Given the description of an element on the screen output the (x, y) to click on. 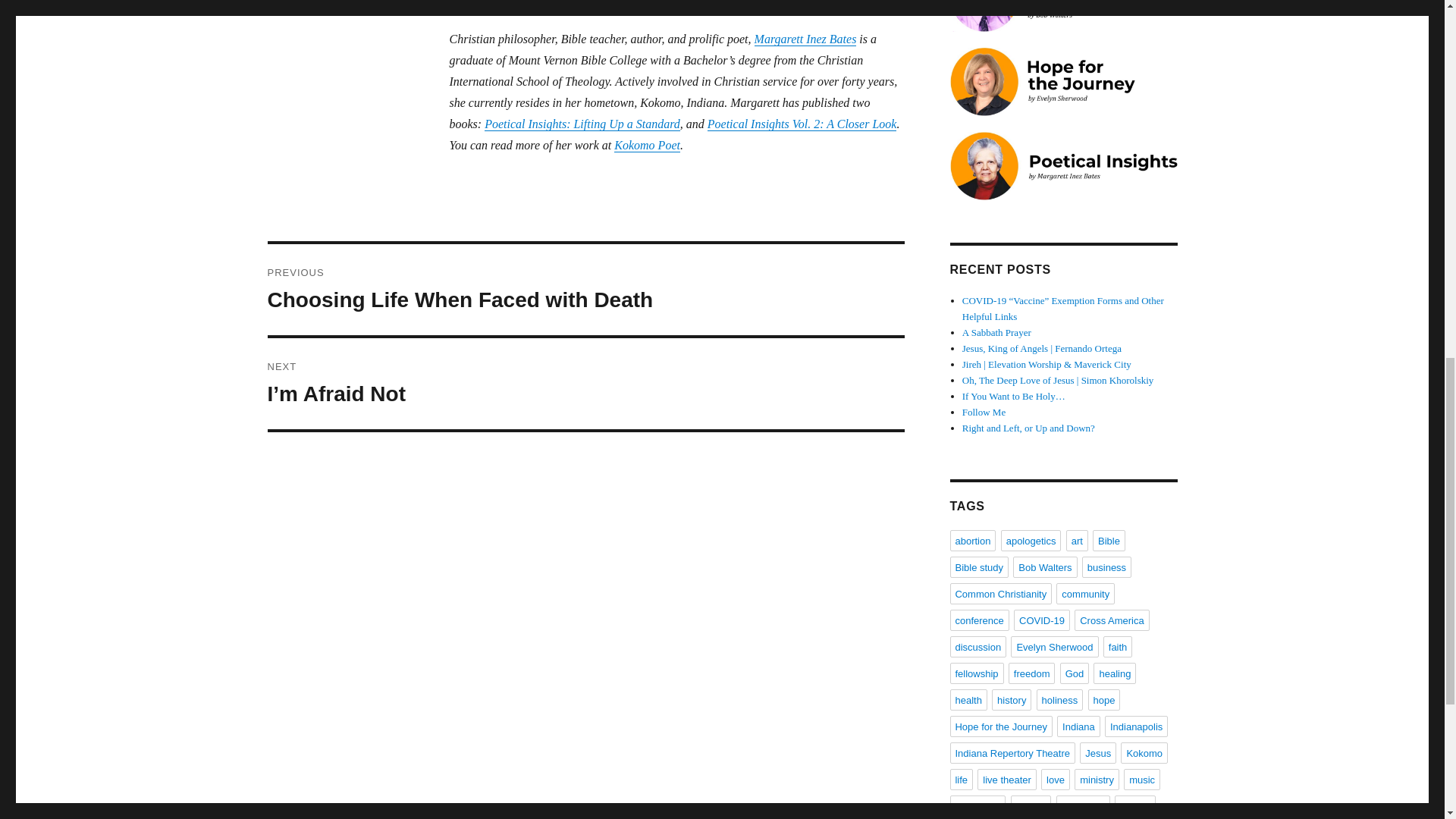
apologetics (1031, 540)
Margarett Inez Bates (805, 38)
Poetical Insights Vol. 2: A Closer Look (801, 123)
A Sabbath Prayer (996, 332)
Kokomo Poet (646, 144)
abortion (972, 540)
Follow Me (984, 411)
Poetical Insights: Lifting Up a Standard (581, 123)
Right and Left, or Up and Down? (1028, 428)
